Given the description of an element on the screen output the (x, y) to click on. 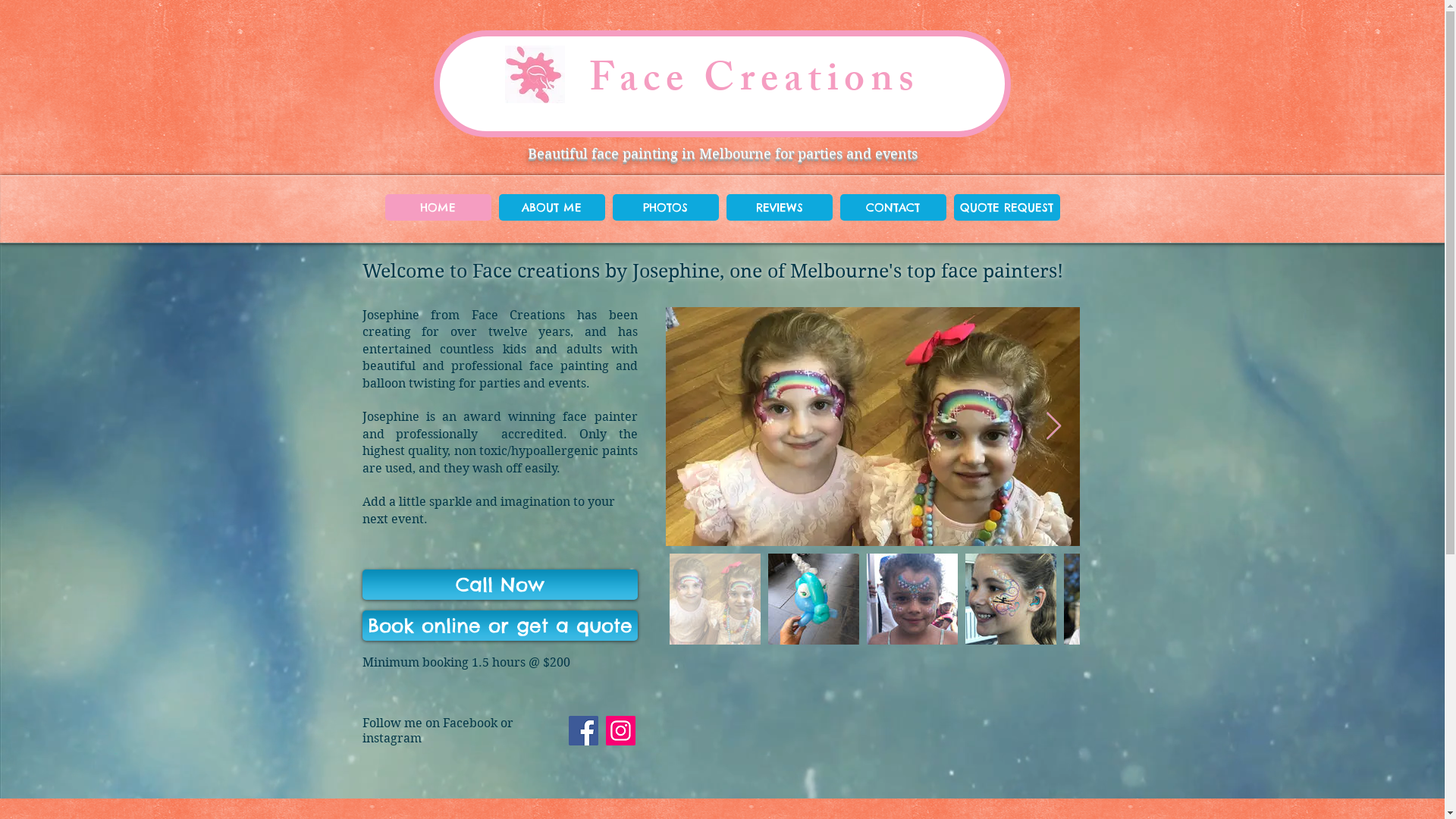
CONTACT Element type: text (893, 207)
Call Now Element type: text (499, 584)
Embedded Content Element type: hover (233, 645)
ABOUT ME Element type: text (551, 207)
QUOTE REQUEST Element type: text (1006, 207)
Logo Element type: hover (534, 74)
Book online or get a quote Element type: text (499, 625)
REVIEWS Element type: text (779, 207)
PHOTOS Element type: text (665, 207)
HOME Element type: text (438, 207)
